Given the description of an element on the screen output the (x, y) to click on. 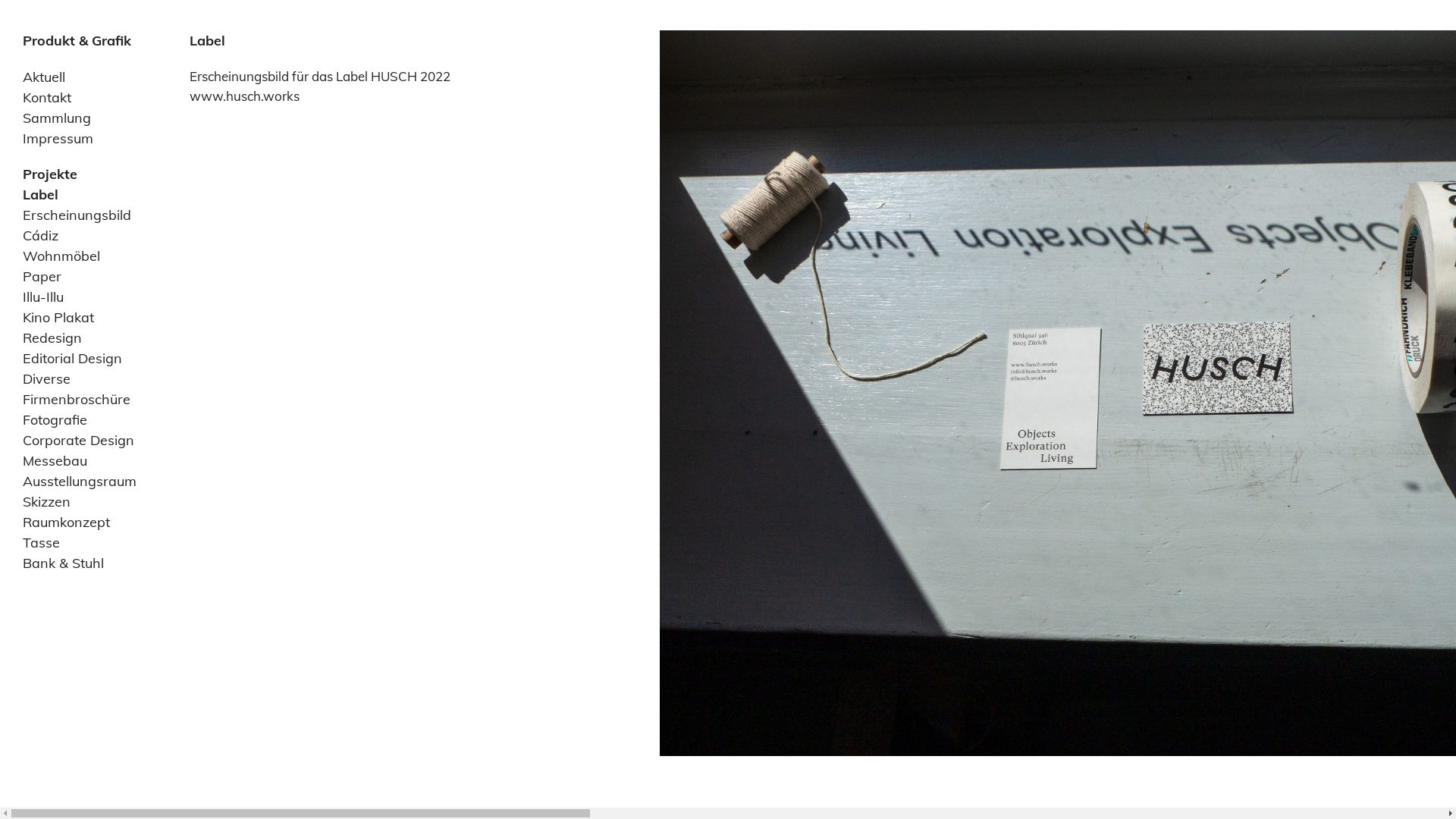
Editorial Design Element type: text (72, 358)
Corporate Design Element type: text (78, 439)
Kontakt Element type: text (46, 97)
Impressum Element type: text (57, 138)
Skizzen Element type: text (46, 501)
Produkt & Grafik Element type: text (76, 40)
Aktuell Element type: text (43, 76)
Skip to content Element type: text (66, 76)
Projekte Element type: text (49, 173)
Redesign Element type: text (51, 337)
Kino Plakat Element type: text (58, 317)
Fotografie Element type: text (54, 419)
Raumkonzept Element type: text (65, 521)
Erscheinungsbild Element type: text (76, 214)
Bank & Stuhl Element type: text (62, 562)
Tasse Element type: text (40, 542)
Ausstellungsraum Element type: text (79, 480)
Messebau Element type: text (54, 460)
Label Element type: text (40, 194)
Sammlung Element type: text (56, 117)
Diverse Element type: text (46, 378)
Paper Element type: text (41, 276)
Illu-Illu Element type: text (42, 296)
